Given the description of an element on the screen output the (x, y) to click on. 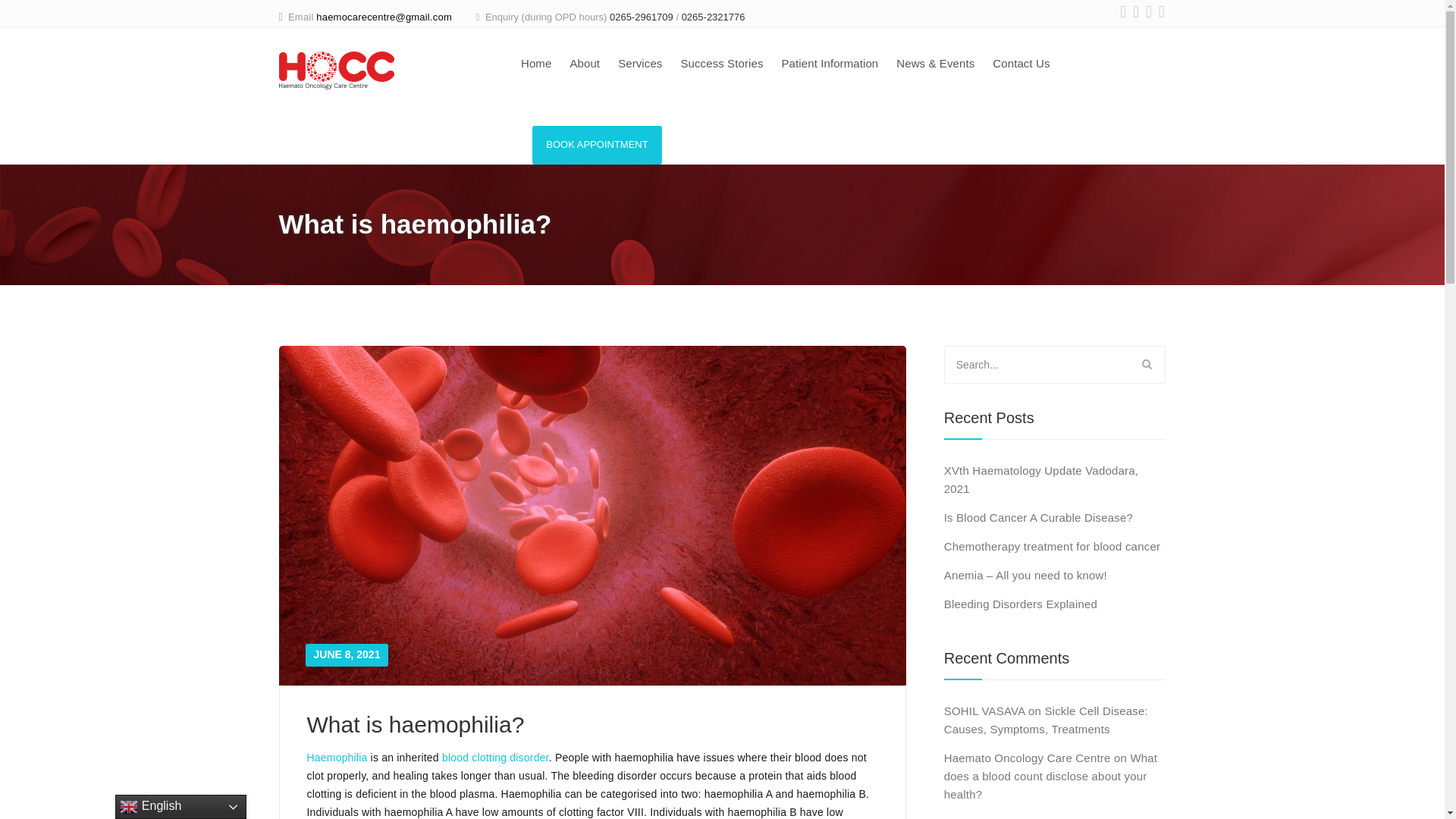
0265-2961709 (641, 16)
Contact Us (1021, 65)
BOOK APPOINTMENT (597, 145)
blood clotting disorder (495, 757)
Success Stories (721, 65)
Haemophilia (335, 757)
Patient Information (828, 65)
0265-2321776 (713, 16)
